Given the description of an element on the screen output the (x, y) to click on. 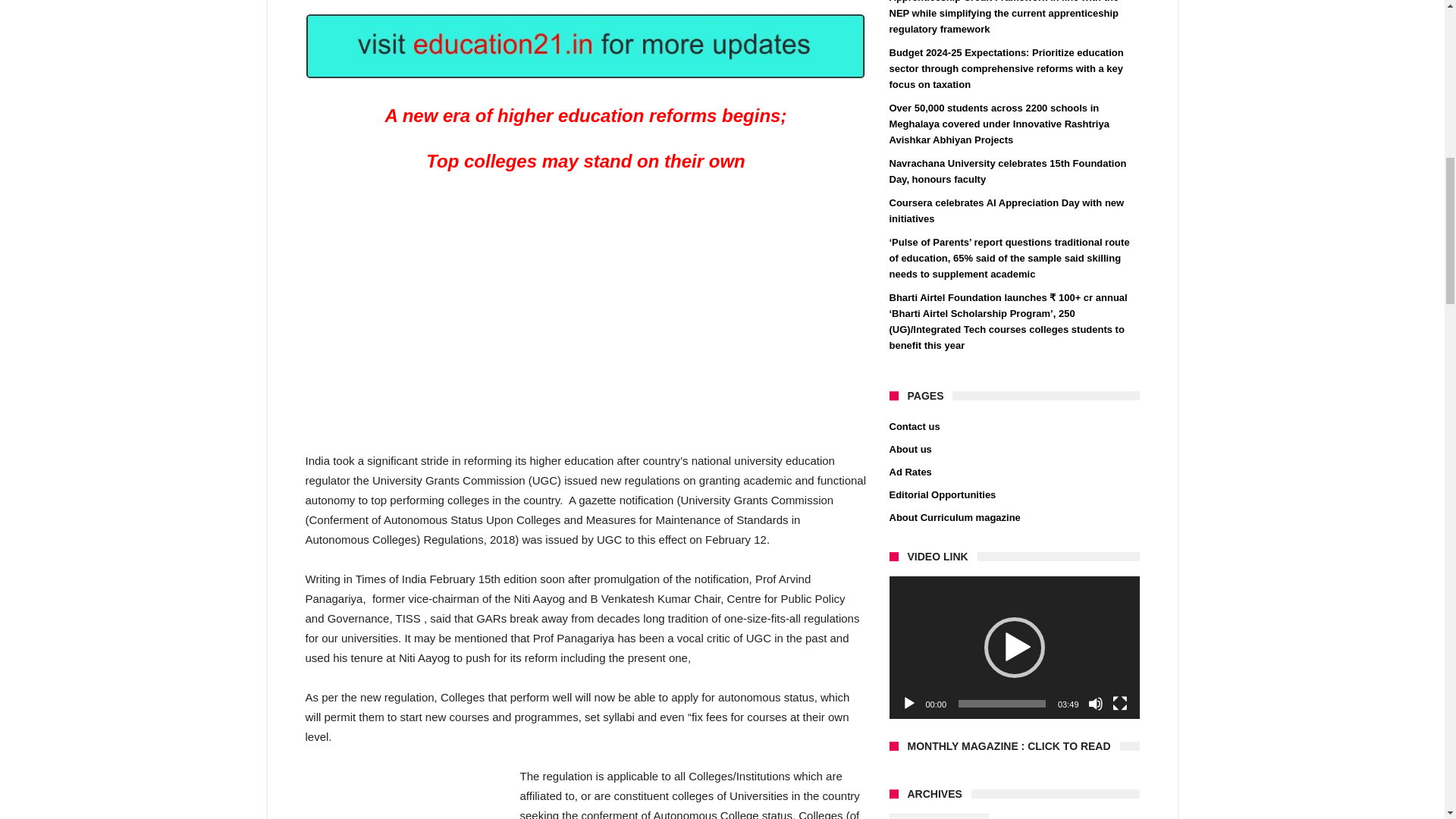
Play (908, 703)
